Given the description of an element on the screen output the (x, y) to click on. 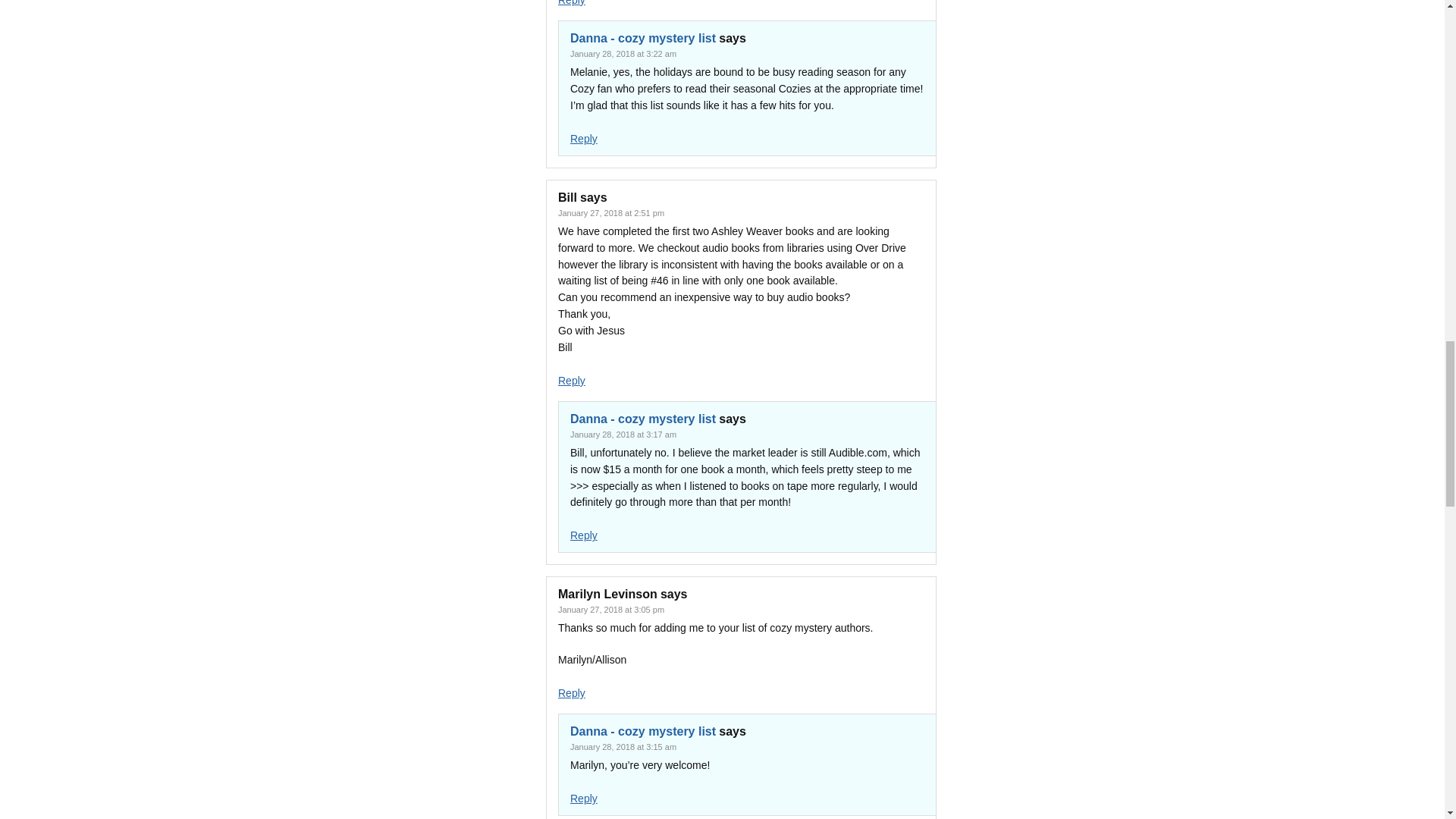
Reply (571, 2)
Reply (583, 535)
Reply (571, 693)
January 27, 2018 at 3:05 pm (610, 609)
Danna - cozy mystery list (643, 418)
January 28, 2018 at 3:22 am (623, 53)
Reply (583, 798)
January 28, 2018 at 3:17 am (623, 433)
Reply (583, 138)
January 27, 2018 at 2:51 pm (610, 212)
